Given the description of an element on the screen output the (x, y) to click on. 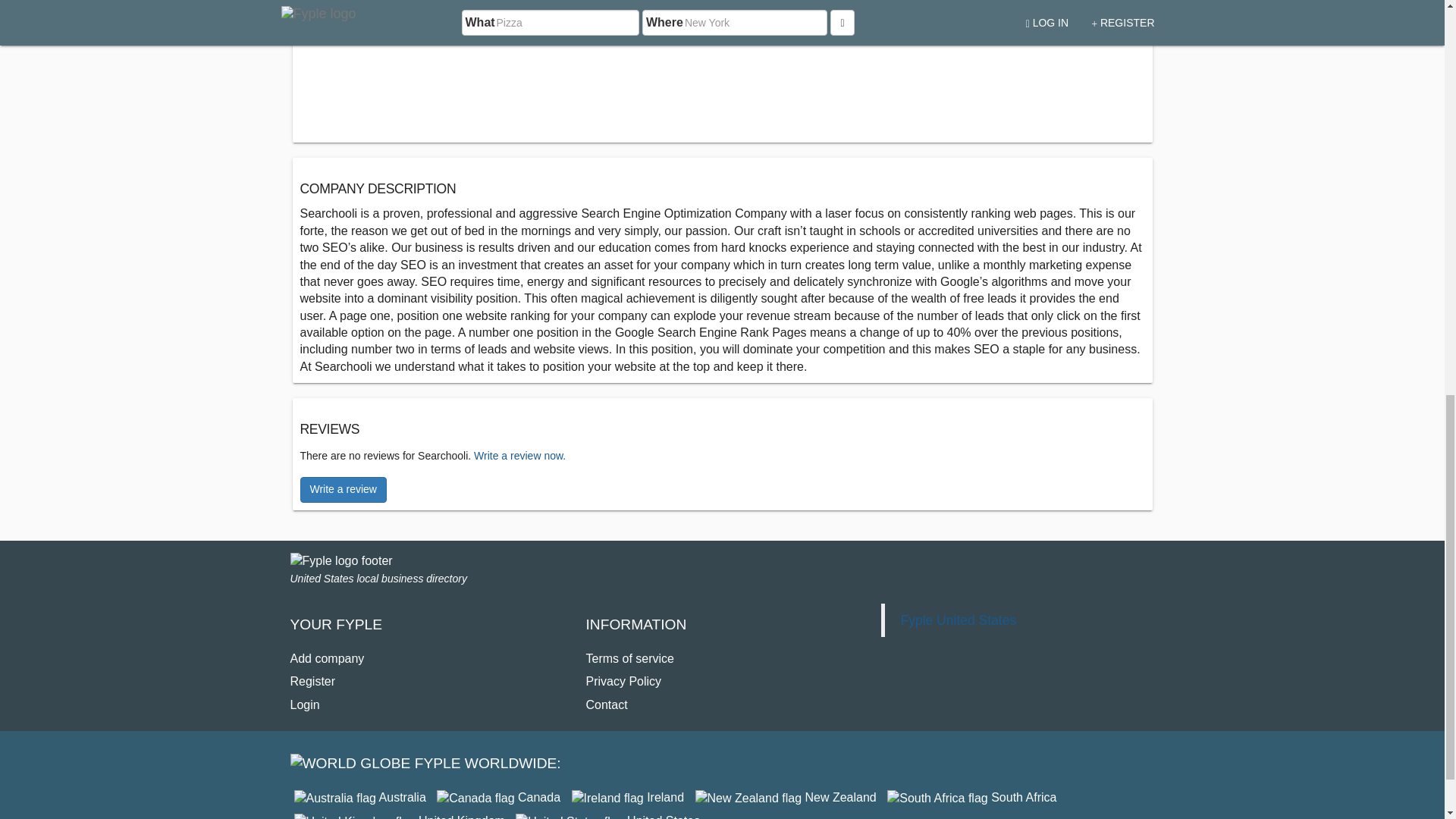
Fyple United States (957, 620)
United States (607, 816)
Fyple United States (607, 816)
Write a review (343, 489)
Fyple Republic of Ireland (628, 797)
Fyple United Kingdom (399, 816)
Terms of service (628, 658)
United Kingdom (399, 816)
Add company (326, 658)
New Zealand (785, 797)
Fyple Canada (498, 797)
Fyple South Africa (971, 797)
Login (303, 704)
Fyple Australia (360, 797)
Fyple New Zealand (785, 797)
